Given the description of an element on the screen output the (x, y) to click on. 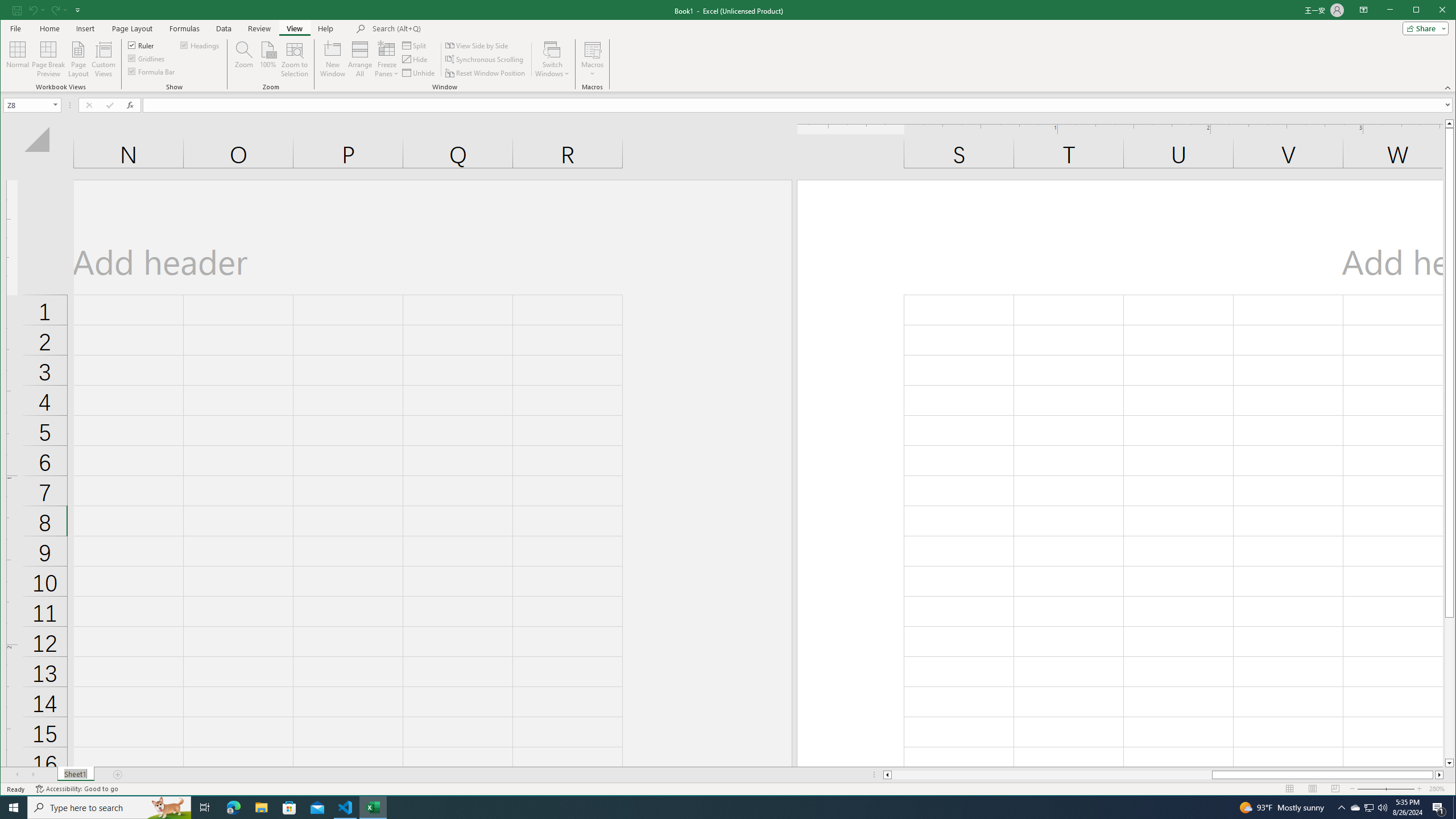
Freeze Panes (387, 59)
Formula Bar (799, 104)
Column left (886, 774)
Microsoft Store (1368, 807)
Open (289, 807)
Scroll Right (55, 105)
Notification Chevron (34, 774)
Task View (1341, 807)
View Macros (204, 807)
Name Box (592, 48)
Zoom In (27, 104)
